Given the description of an element on the screen output the (x, y) to click on. 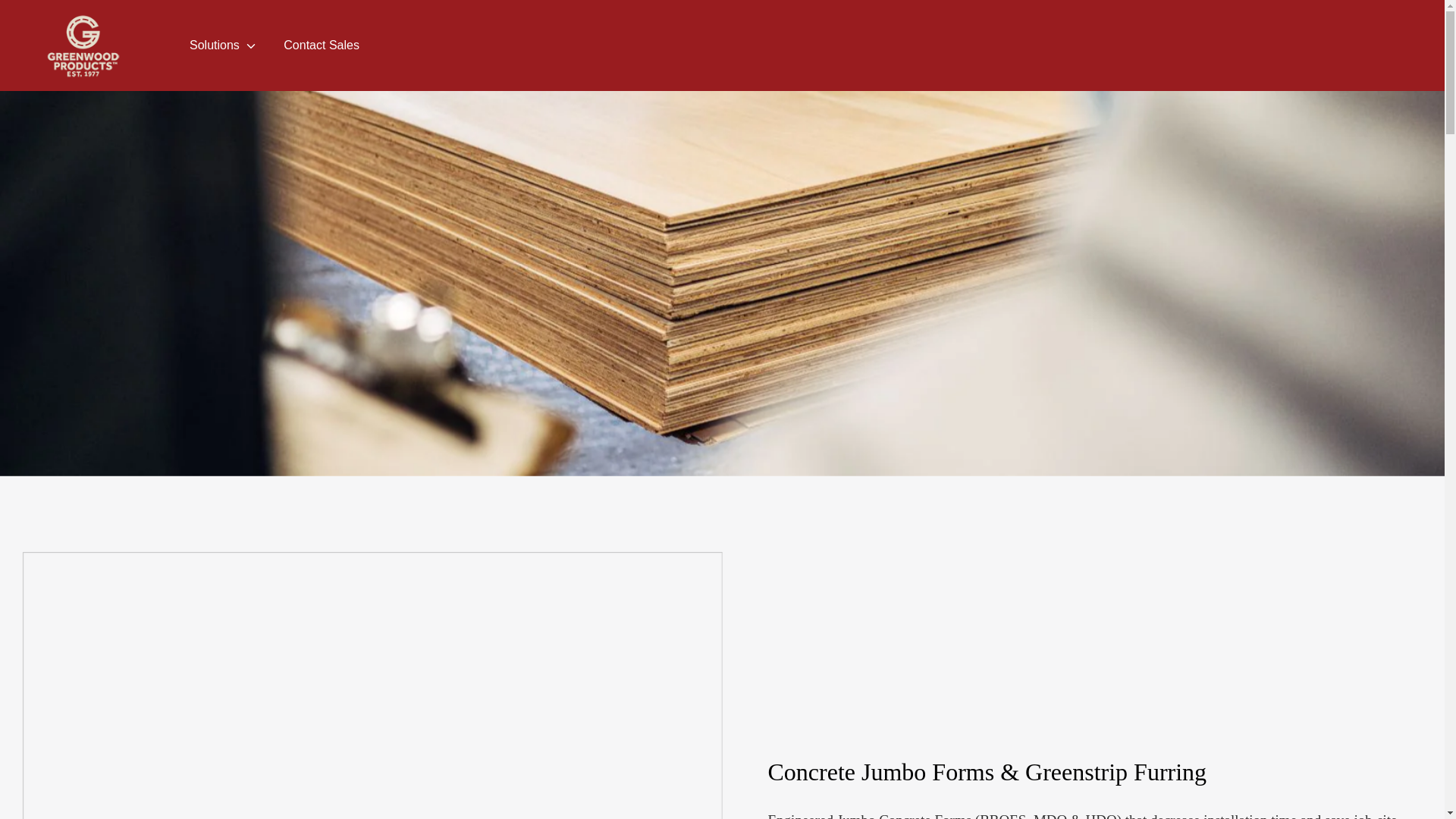
Construction (120, 18)
Contact Sales (321, 49)
Home (55, 18)
Solutions (223, 49)
